Given the description of an element on the screen output the (x, y) to click on. 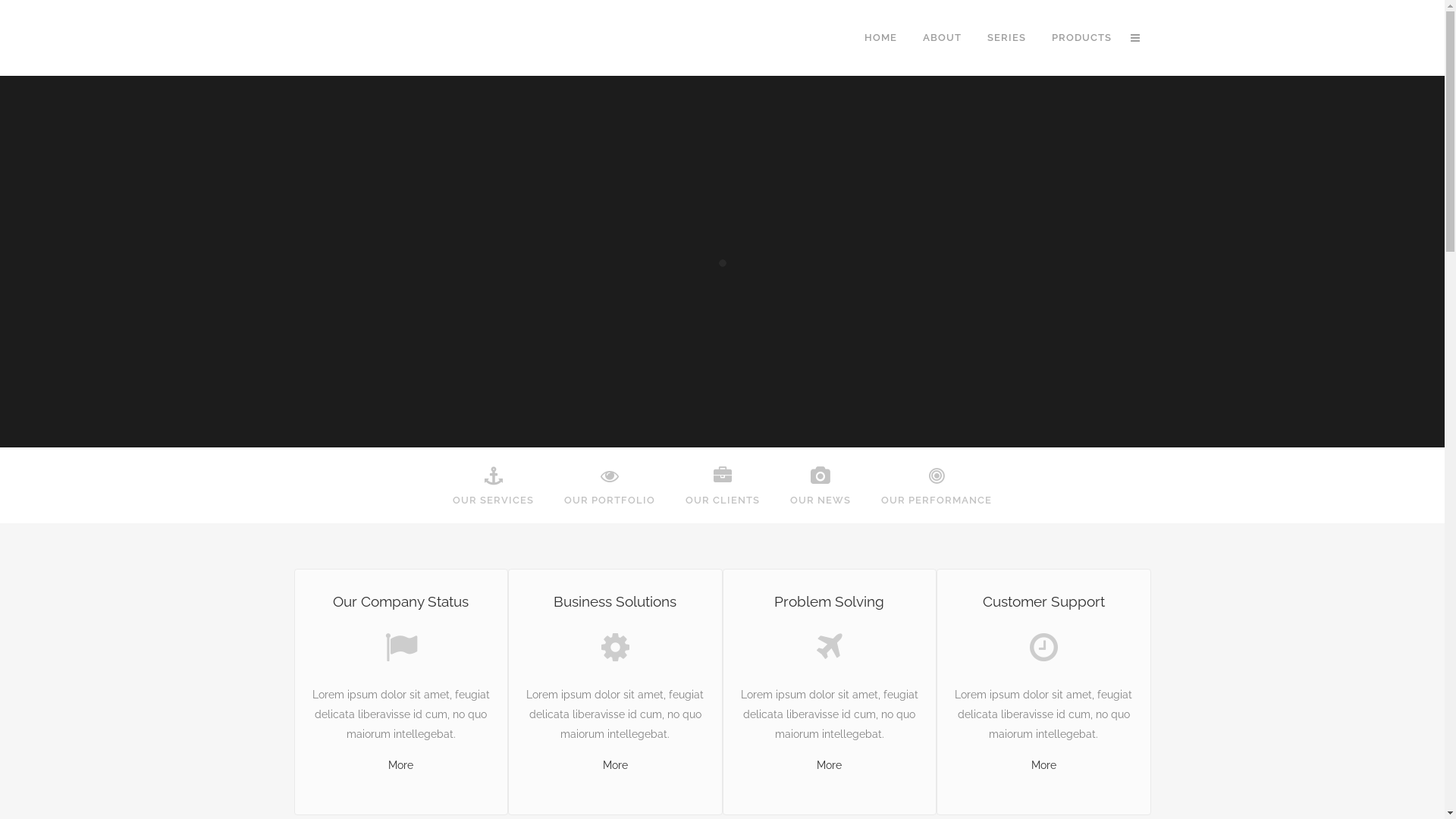
OUR NEWS Element type: text (820, 485)
PRODUCTS Element type: text (1081, 37)
OUR CLIENTS Element type: text (722, 485)
SERIES Element type: text (1005, 37)
More Element type: text (828, 765)
More Element type: text (614, 765)
OUR SERVICES Element type: text (493, 485)
ABOUT Element type: text (942, 37)
OUR PERFORMANCE Element type: text (936, 485)
HOME Element type: text (879, 37)
More Element type: text (1043, 765)
OUR PORTFOLIO Element type: text (609, 485)
More Element type: text (400, 765)
